Given the description of an element on the screen output the (x, y) to click on. 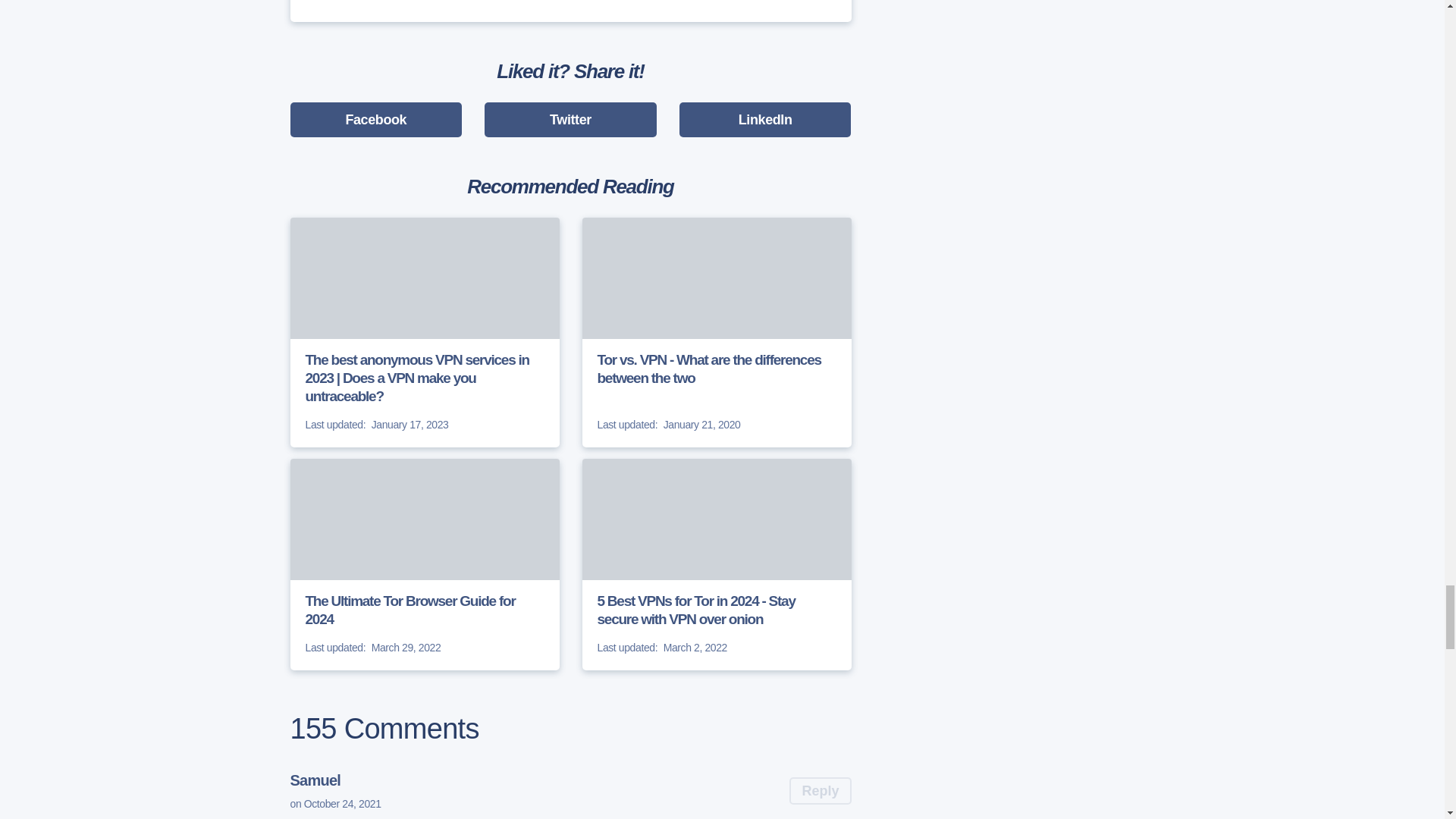
Last Updated Date (334, 648)
Last Updated Date (627, 648)
Last Updated Date (334, 425)
Last Updated Date (627, 425)
